Given the description of an element on the screen output the (x, y) to click on. 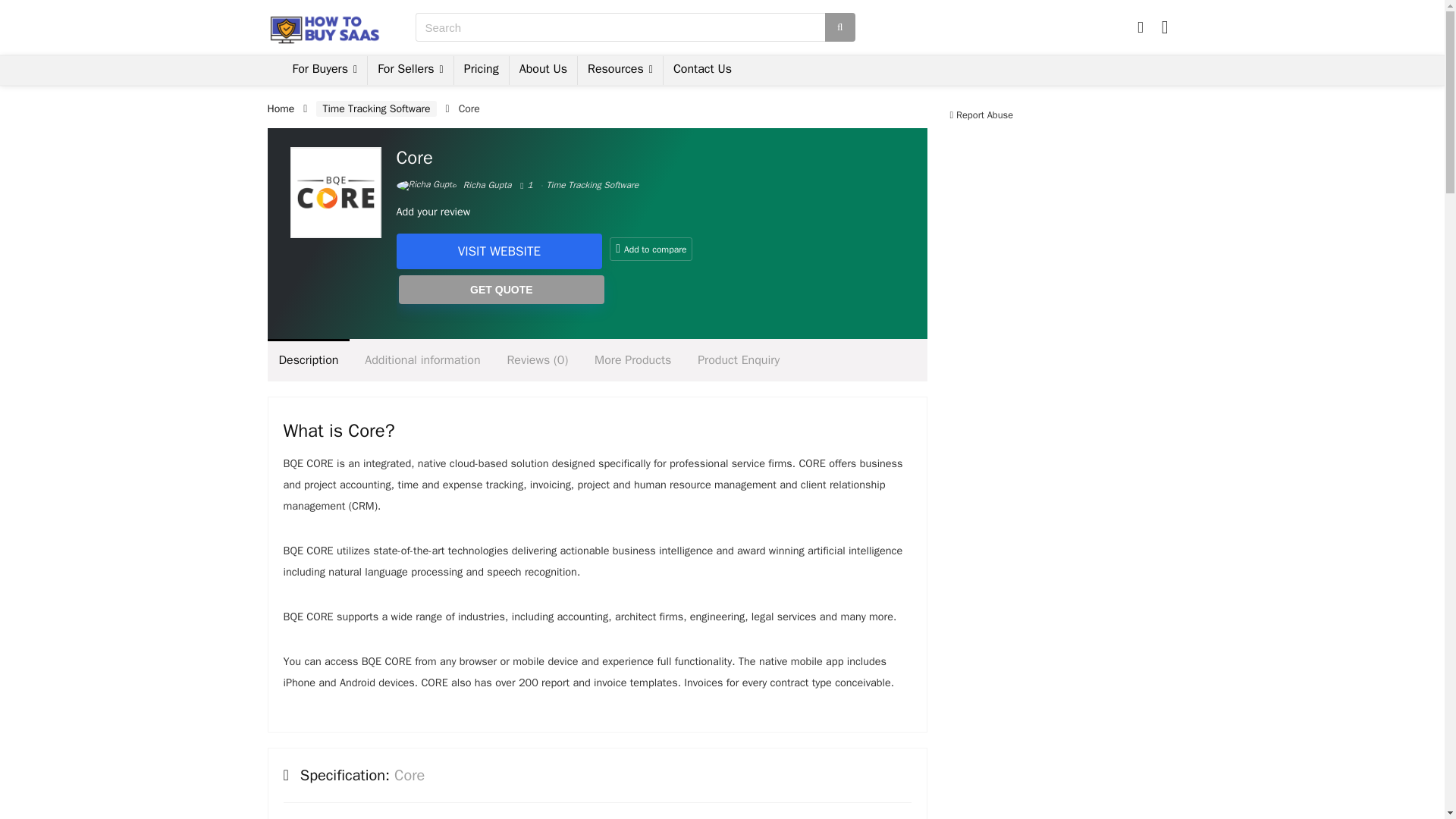
Home (280, 108)
About Us (542, 70)
Pricing (481, 70)
Add your review (433, 211)
Time Tracking Software (593, 184)
For Sellers (410, 70)
For Buyers (324, 70)
VISIT WEBSITE (499, 251)
More Products (632, 360)
Resources (620, 70)
